Given the description of an element on the screen output the (x, y) to click on. 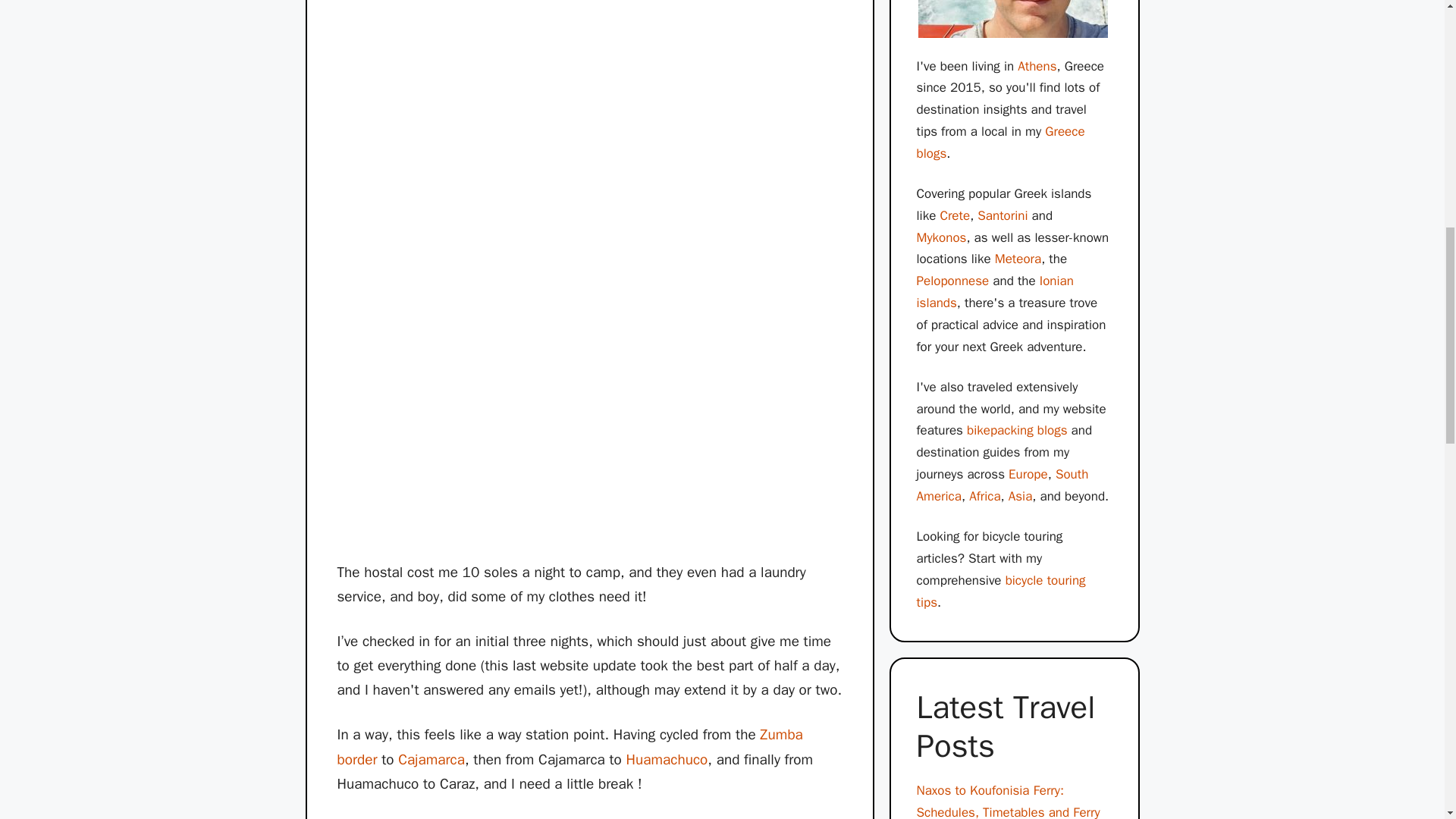
South America (1001, 485)
Ionian islands (994, 291)
Asia (1020, 496)
Athens (1037, 66)
Crete (954, 215)
Africa (984, 496)
Greece blogs (999, 142)
Peloponnese (951, 280)
bikepacking blogs (1016, 430)
Huamachuco (666, 760)
Cajamarca (430, 760)
Mykonos (940, 237)
Zumba border (569, 746)
Europe (1028, 474)
Santorini (1001, 215)
